Given the description of an element on the screen output the (x, y) to click on. 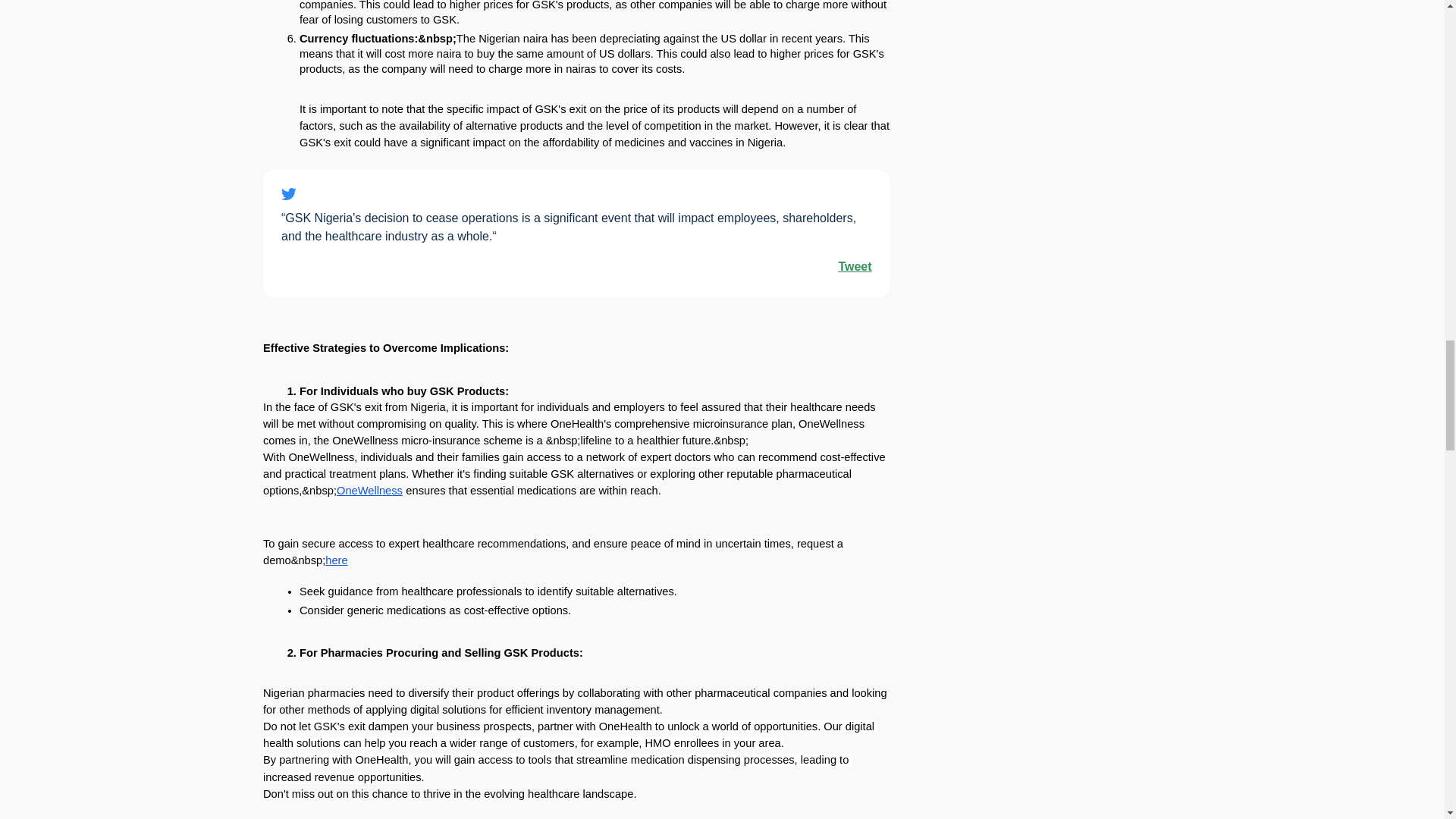
Tweet (854, 266)
here (335, 559)
OneWellness (369, 490)
